Given the description of an element on the screen output the (x, y) to click on. 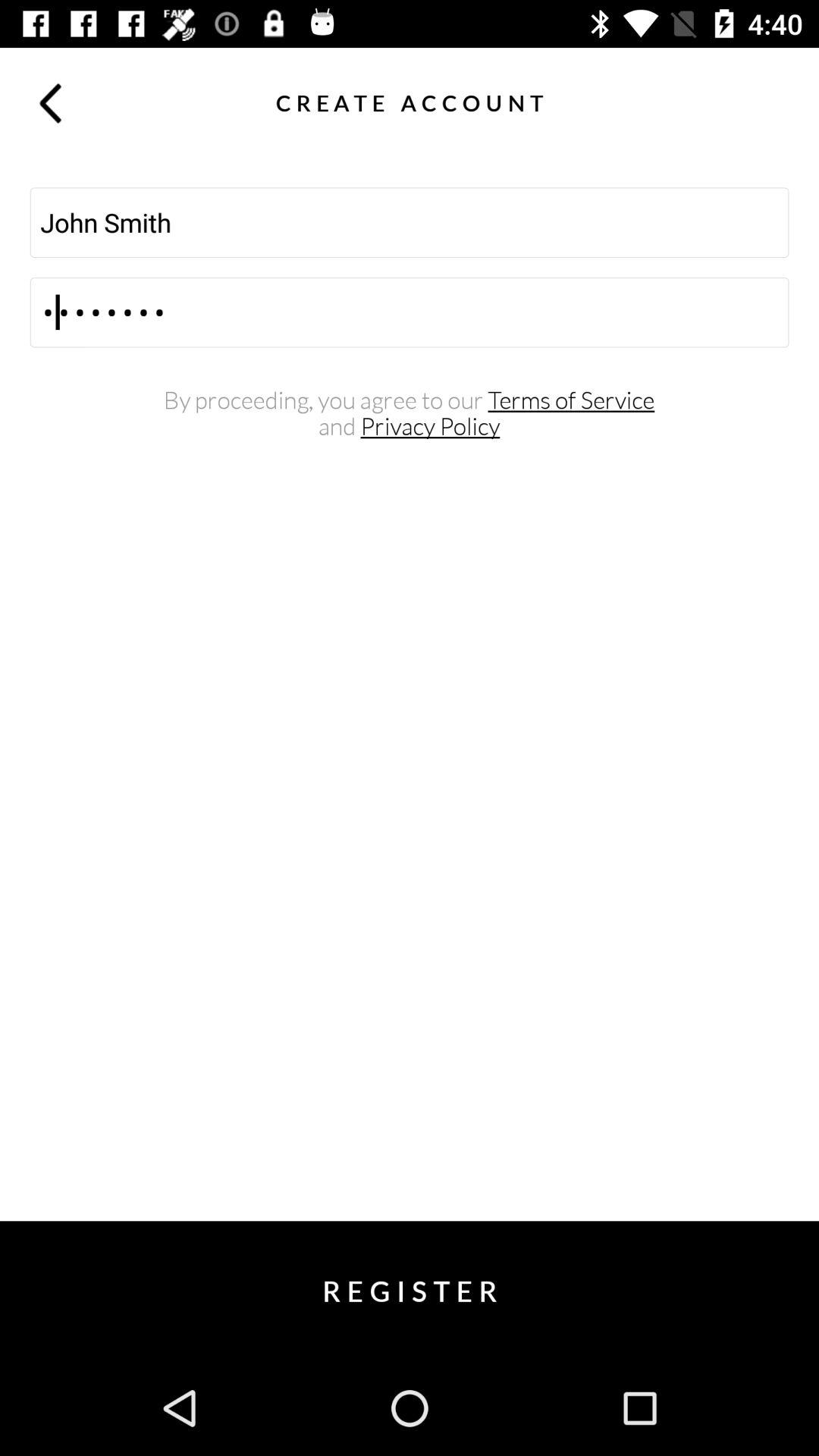
choose the icon at the top left corner (49, 102)
